Given the description of an element on the screen output the (x, y) to click on. 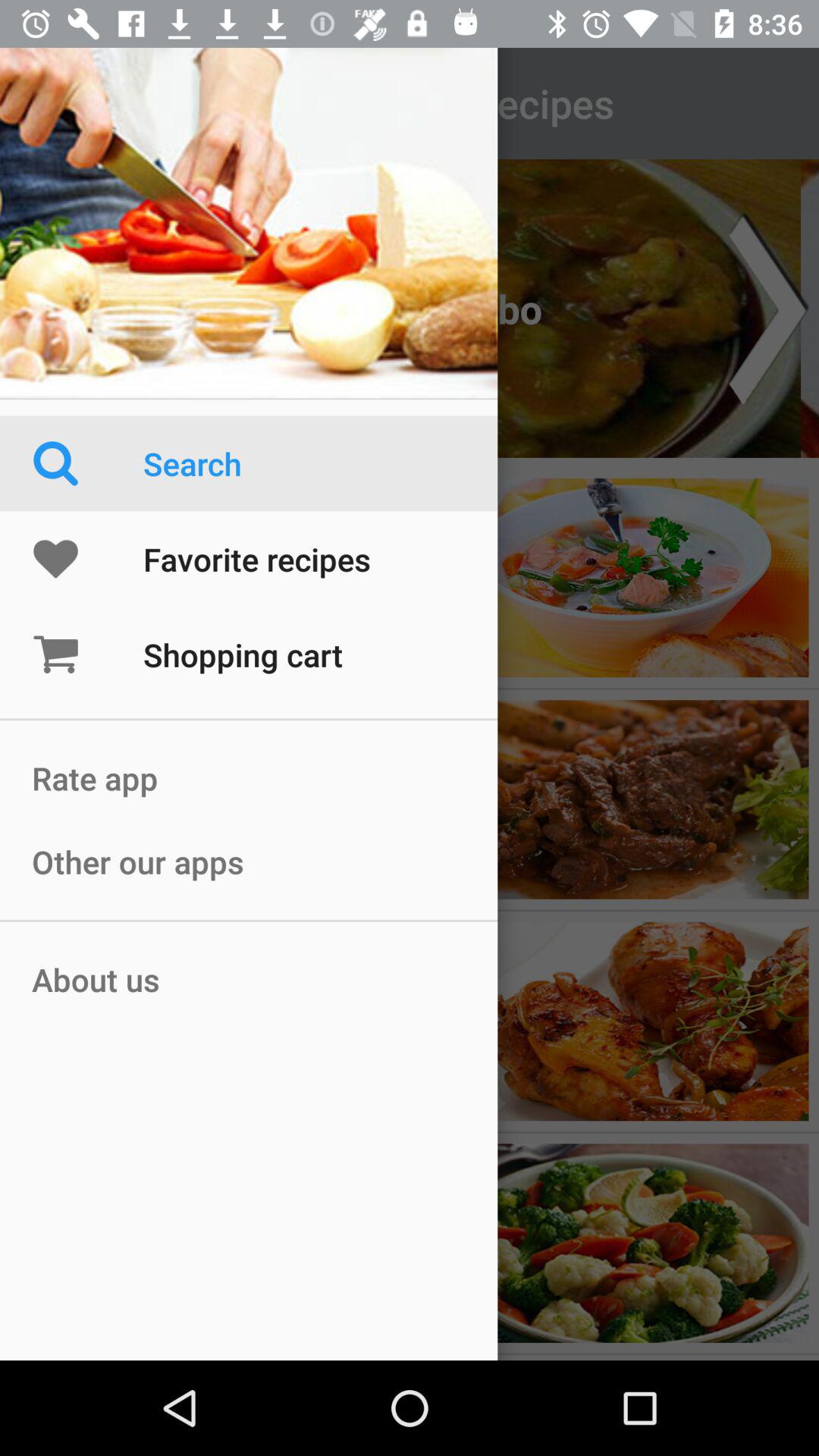
select favorite icon (87, 559)
